Given the description of an element on the screen output the (x, y) to click on. 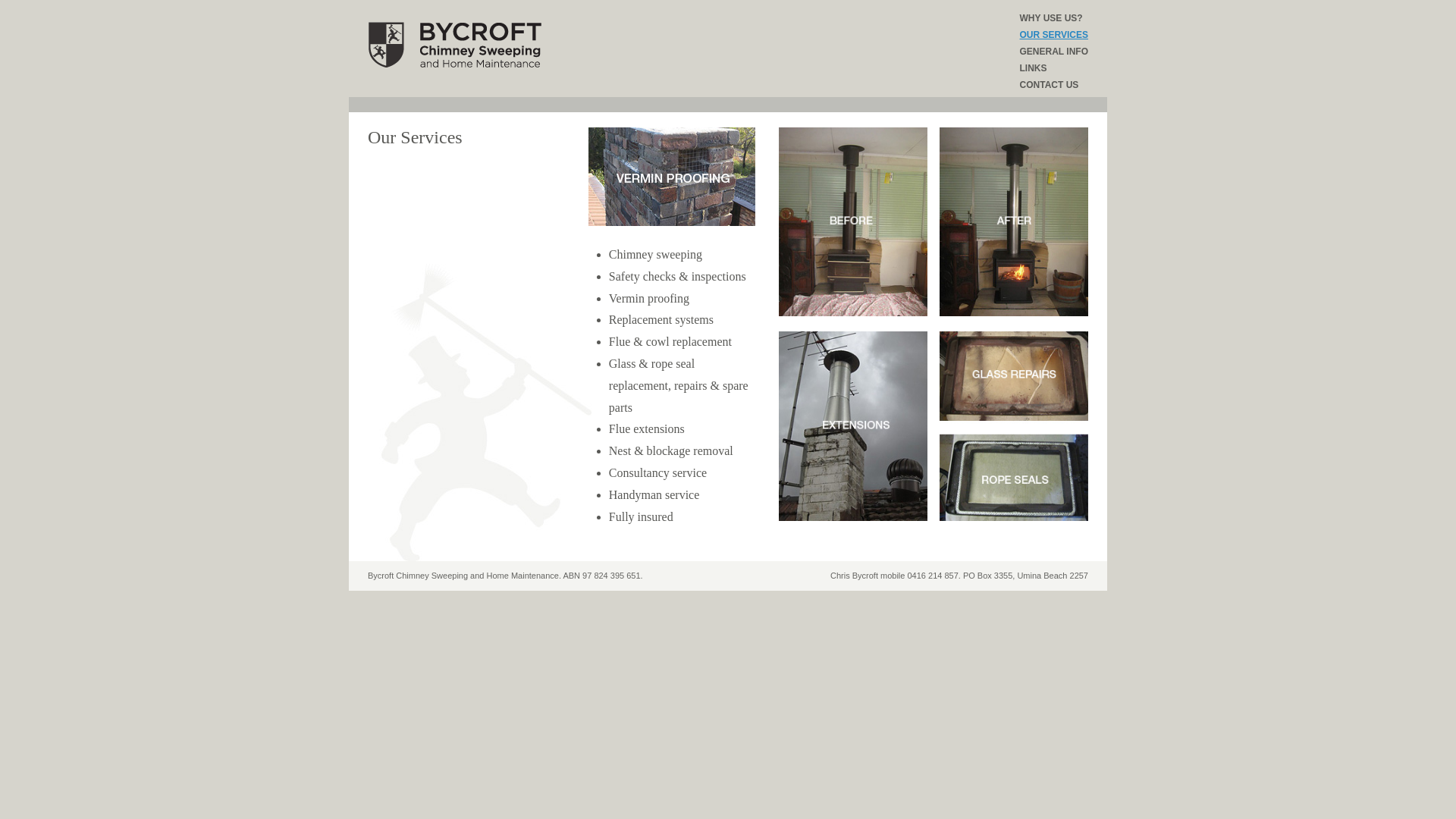
GENERAL INFO Element type: text (1053, 53)
WHY USE US? Element type: text (1053, 19)
LINKS Element type: text (1053, 69)
OUR SERVICES Element type: text (1053, 36)
CONTACT US Element type: text (1053, 86)
Bycroft Chimney Sweep Element type: hover (456, 45)
